Given the description of an element on the screen output the (x, y) to click on. 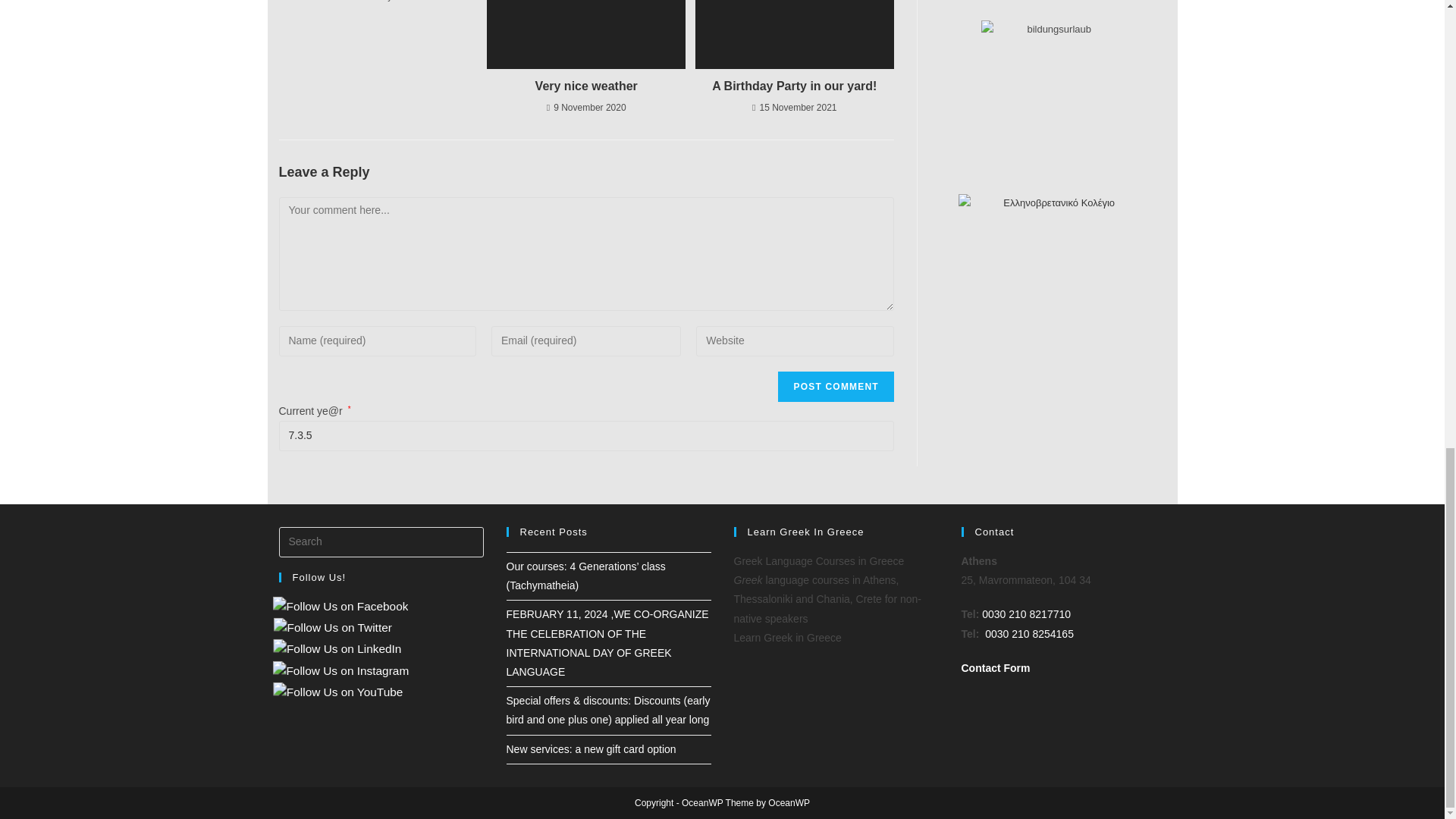
7.3.5 (586, 435)
Follow Us on Twitter (326, 627)
Follow Us on Facebook (333, 606)
Post Comment (835, 386)
